Given the description of an element on the screen output the (x, y) to click on. 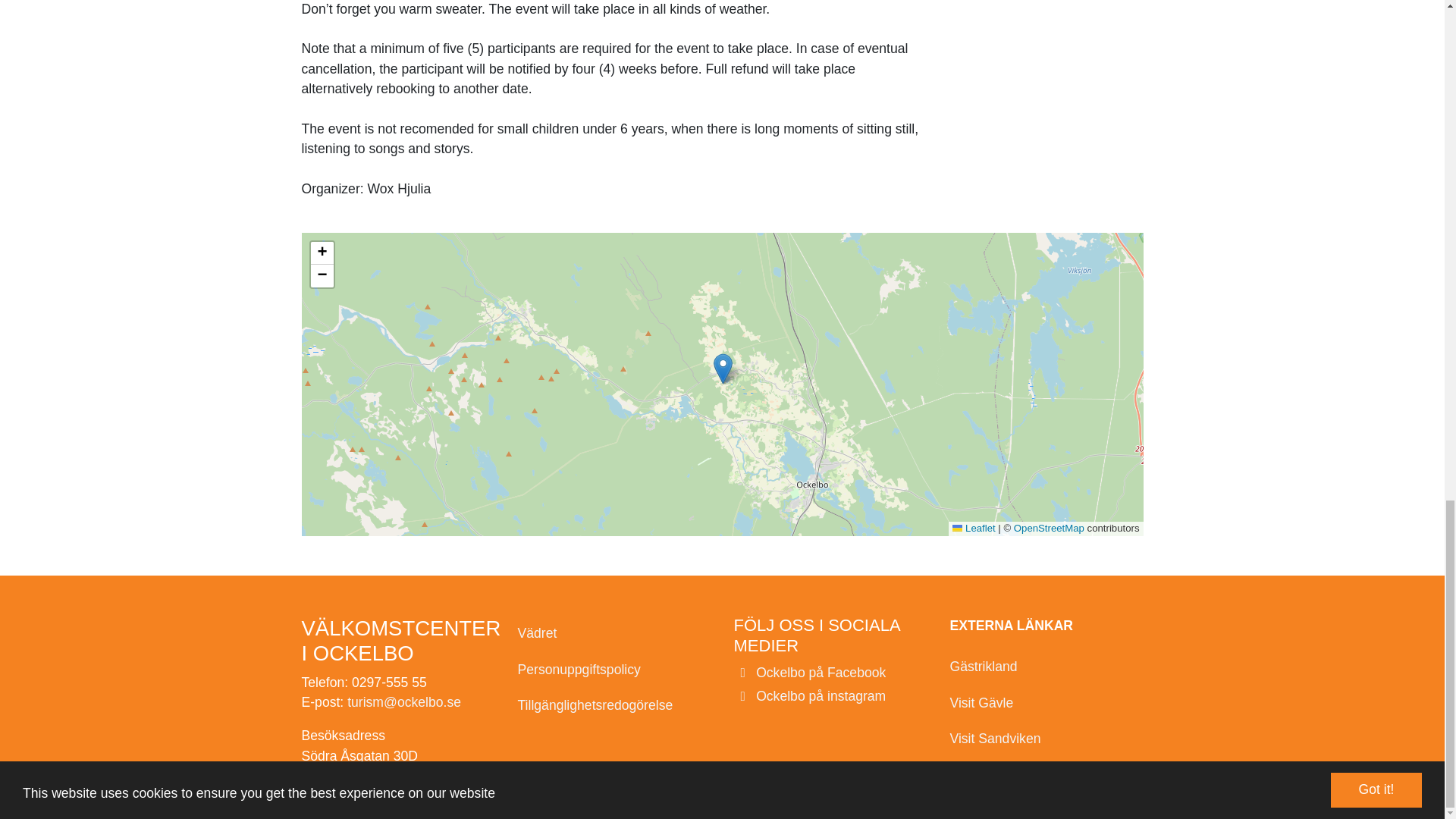
Leaflet (973, 527)
Zoom out (322, 275)
A JavaScript library for interactive maps (973, 527)
Visit Sandviken (1045, 738)
Visit Hofors (1045, 774)
Personuppgiftspolicy (613, 669)
Zoom in (322, 252)
OpenStreetMap (1048, 527)
